Given the description of an element on the screen output the (x, y) to click on. 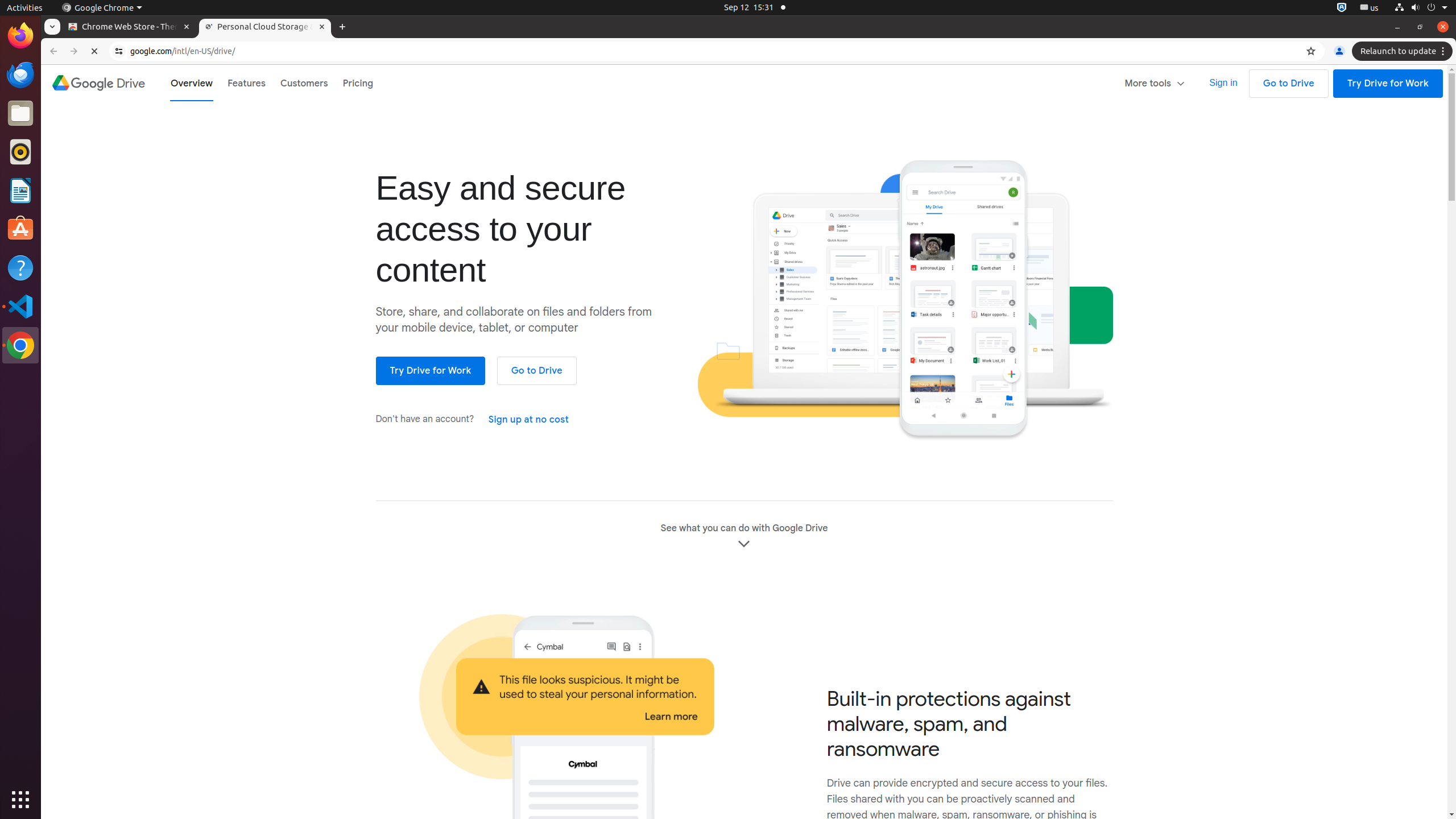
Reload Element type: push-button (94, 50)
:1.72/StatusNotifierItem Element type: menu (1341, 7)
Ubuntu Software Element type: push-button (20, 229)
Show Applications Element type: toggle-button (20, 799)
Sign in Element type: link (1223, 82)
